Given the description of an element on the screen output the (x, y) to click on. 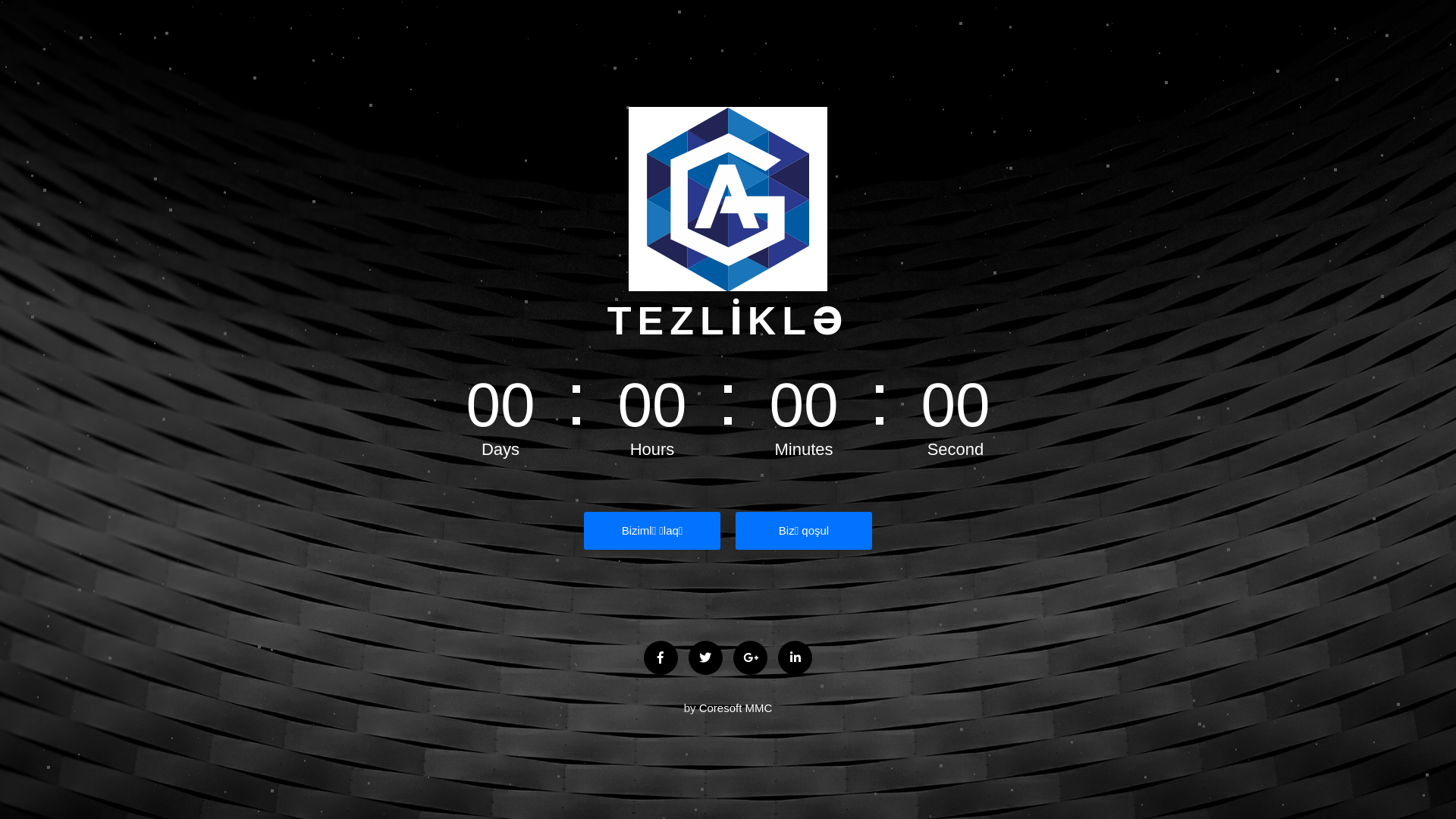
Coresoft MMC Element type: text (735, 707)
twitter Element type: hover (705, 657)
linkedin Element type: hover (795, 657)
google Element type: hover (750, 657)
Facebook Element type: hover (660, 657)
